Given the description of an element on the screen output the (x, y) to click on. 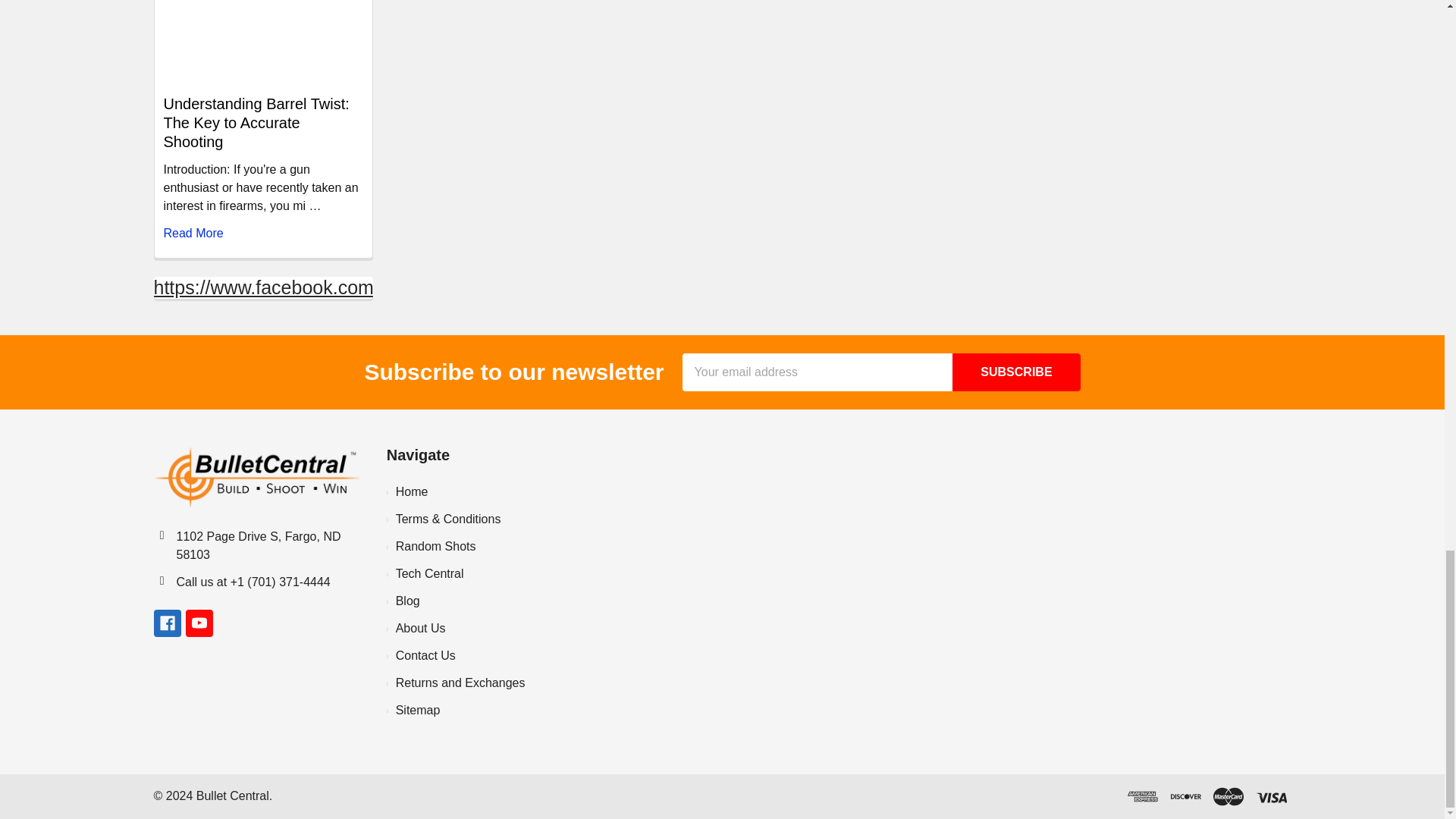
Subscribe (1016, 371)
Understanding Barrel Twist: The Key to Accurate Shooting (262, 42)
